Given the description of an element on the screen output the (x, y) to click on. 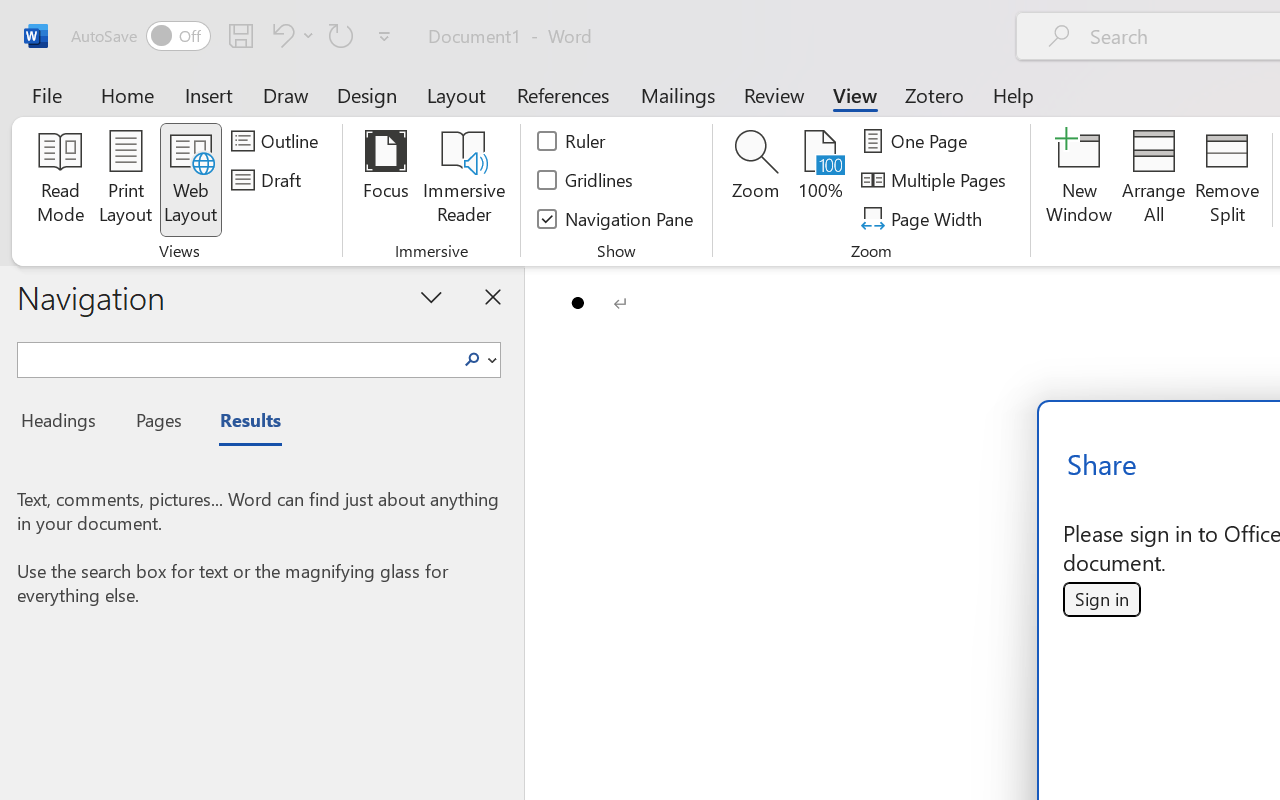
Page Width (924, 218)
Headings (64, 423)
Results (240, 423)
Pages (156, 423)
Outline (278, 141)
Search document (236, 357)
Multiple Pages (936, 179)
New Window (1079, 179)
